Given the description of an element on the screen output the (x, y) to click on. 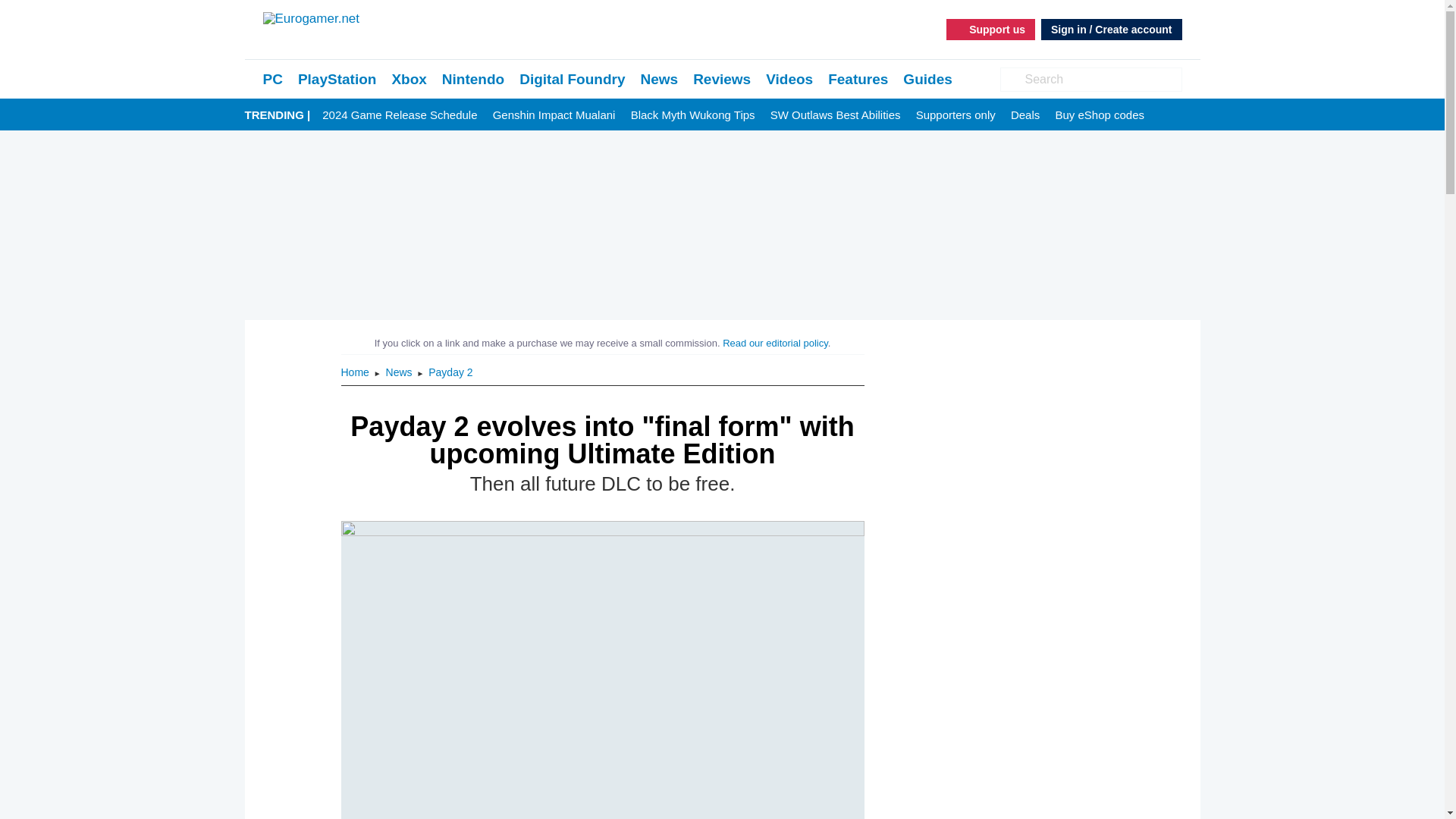
Reviews (722, 78)
Genshin Impact Mualani (554, 114)
Nintendo (472, 78)
Guides (927, 78)
SW Outlaws Best Abilities (835, 114)
News (659, 78)
Videos (788, 78)
Home (356, 372)
Support us (990, 29)
Buy eShop codes (1099, 114)
